Given the description of an element on the screen output the (x, y) to click on. 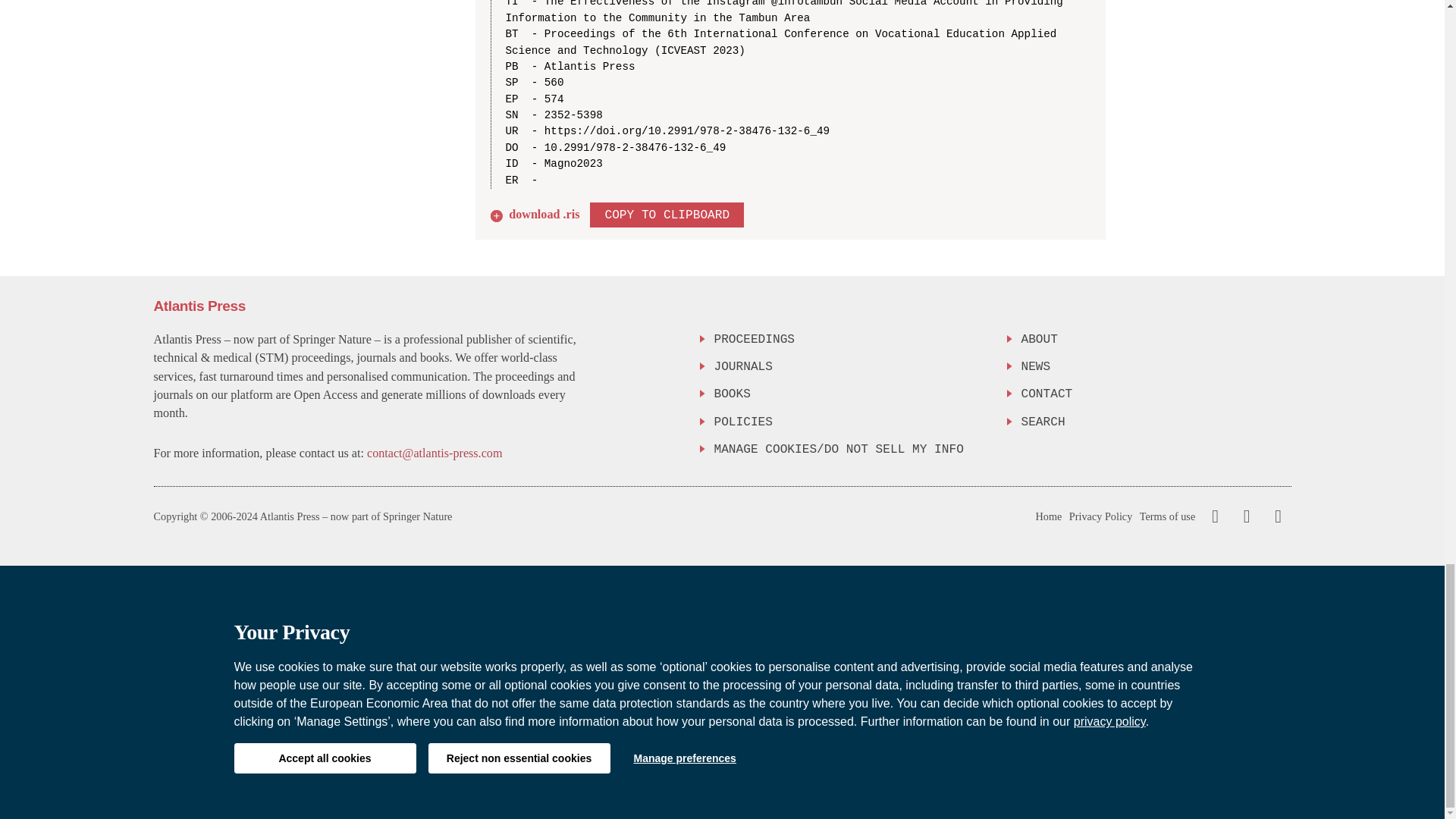
Facebook (1215, 516)
Twitter (1243, 516)
LinkedIn (1275, 516)
